Given the description of an element on the screen output the (x, y) to click on. 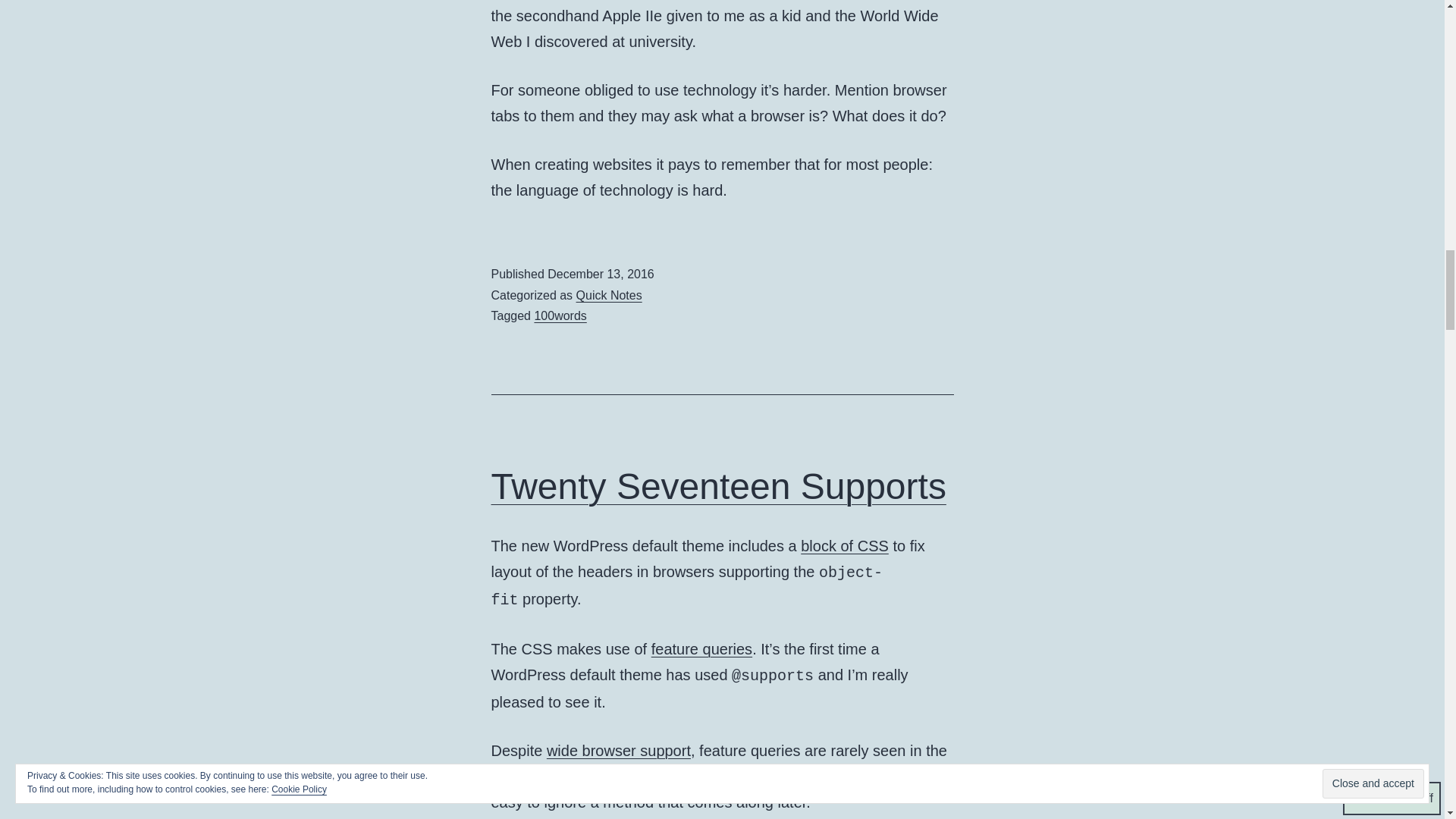
feature queries (701, 648)
wide browser support (618, 750)
Twenty Seventeen Supports (719, 486)
Quick Notes (609, 295)
100words (560, 315)
block of CSS (844, 545)
